Given the description of an element on the screen output the (x, y) to click on. 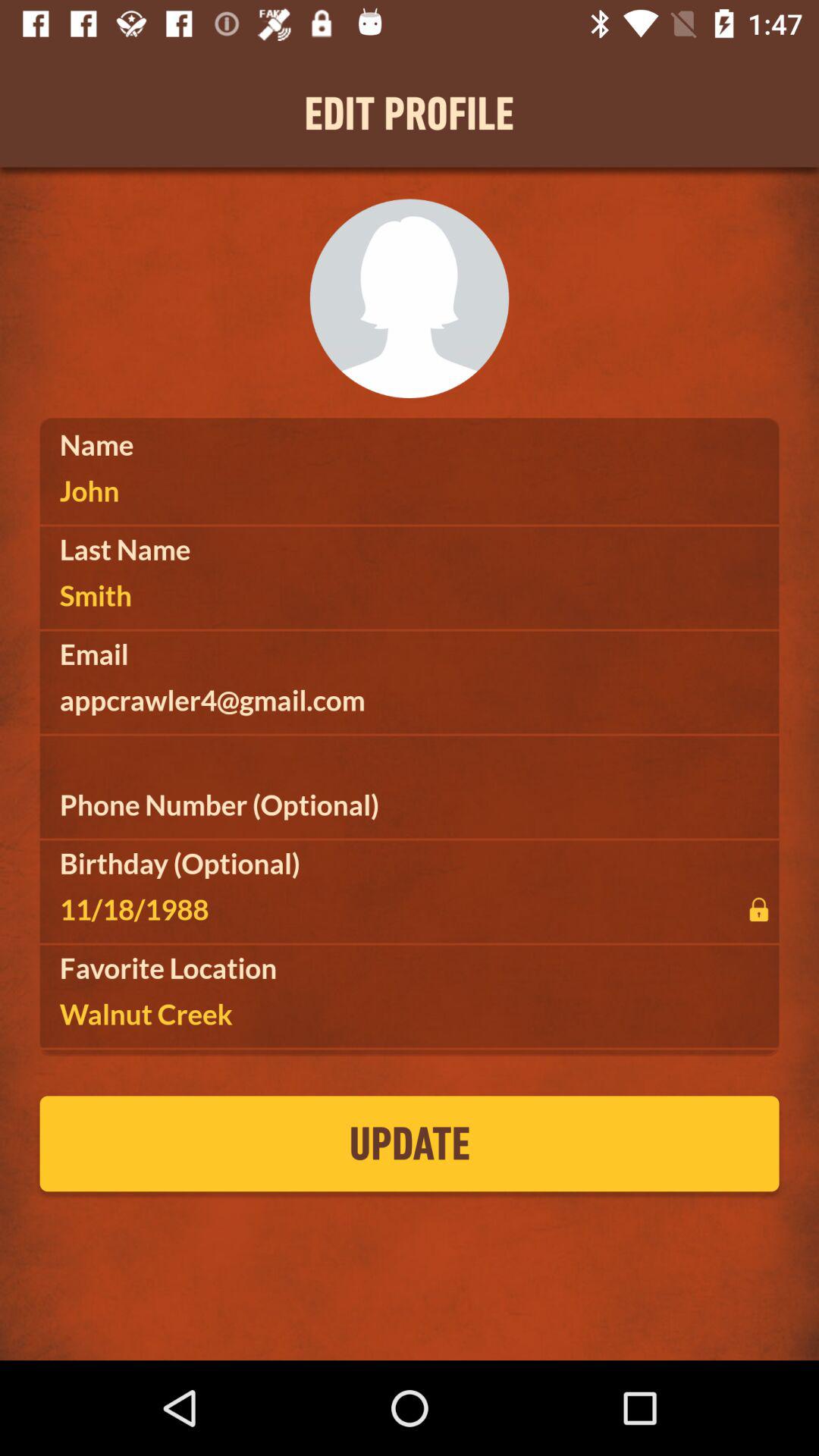
field for phone number (409, 804)
